Given the description of an element on the screen output the (x, y) to click on. 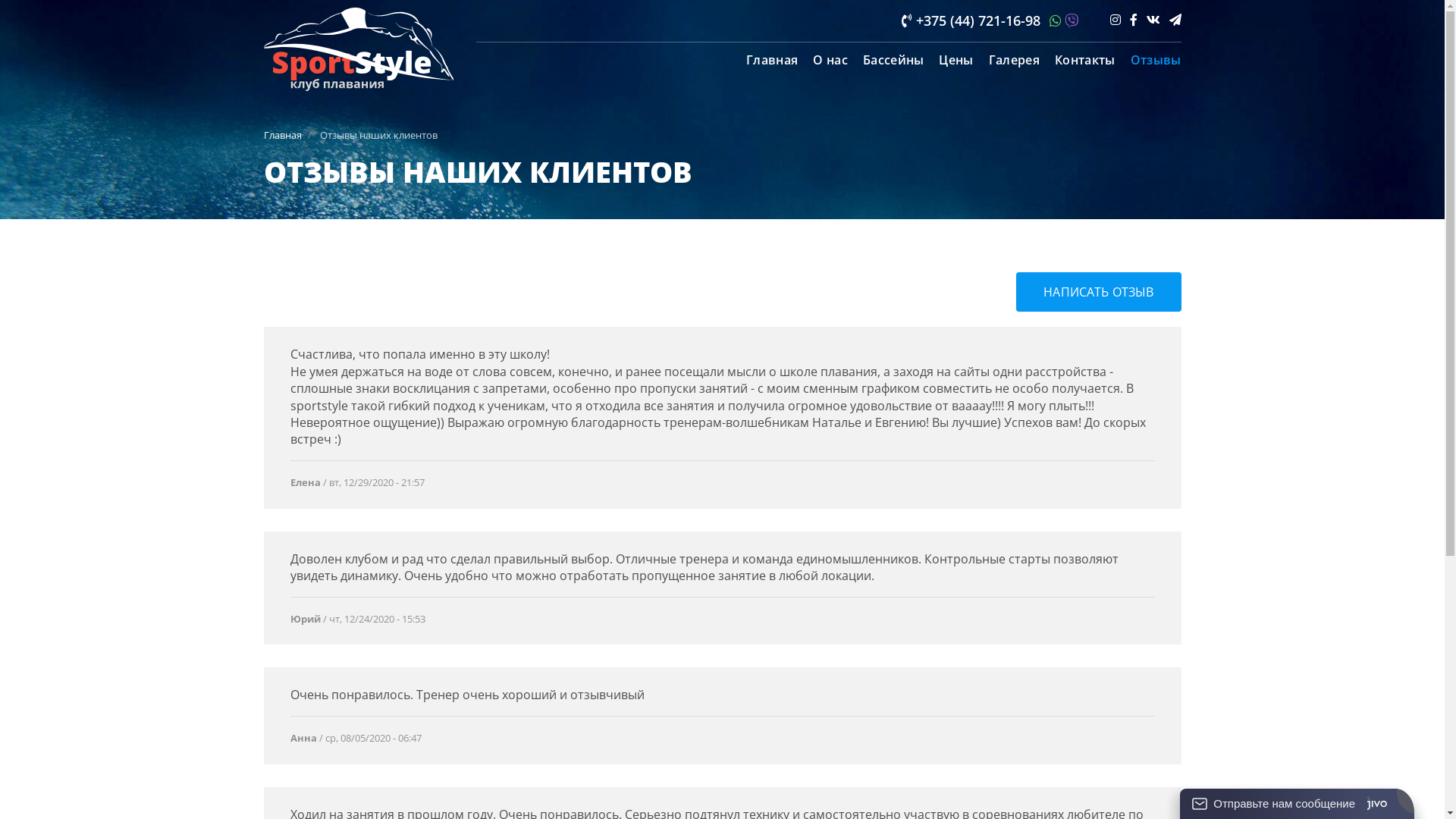
VK Element type: hover (1153, 19)
Telegram Element type: hover (1175, 19)
WhatsApp Element type: hover (1052, 20)
Instagram Element type: hover (1115, 19)
+375 (44) 721-16-98 Element type: text (969, 20)
Facebook Element type: hover (1133, 19)
Viber Element type: hover (1071, 20)
